Given the description of an element on the screen output the (x, y) to click on. 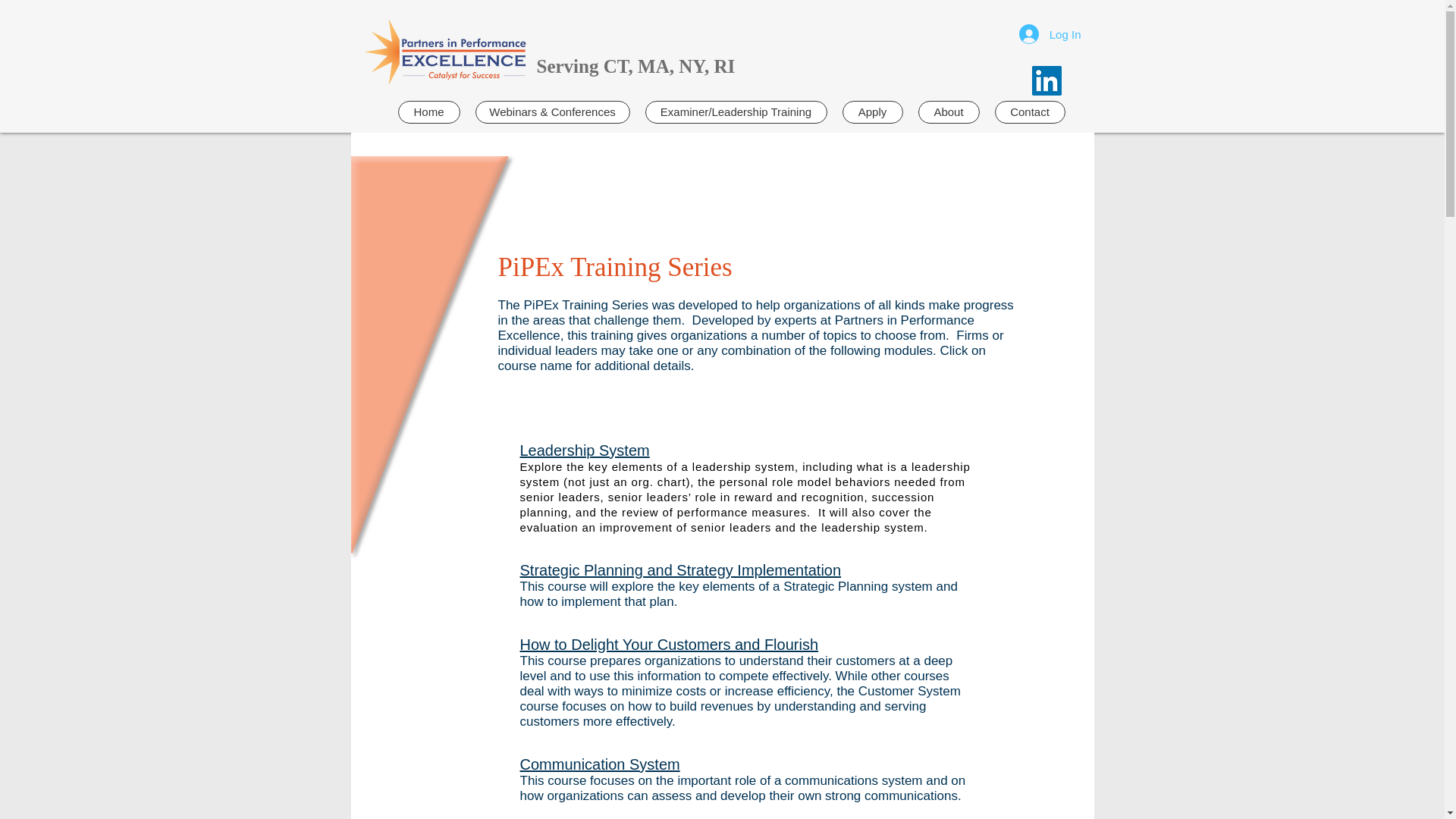
Home (428, 111)
Log In (1050, 33)
Leadership System (584, 450)
About (947, 111)
How to Delight Your Customers and Flourish (668, 644)
Strategic Planning and Strategy Implementation (680, 569)
Contact (1029, 111)
Communication System (599, 764)
